Given the description of an element on the screen output the (x, y) to click on. 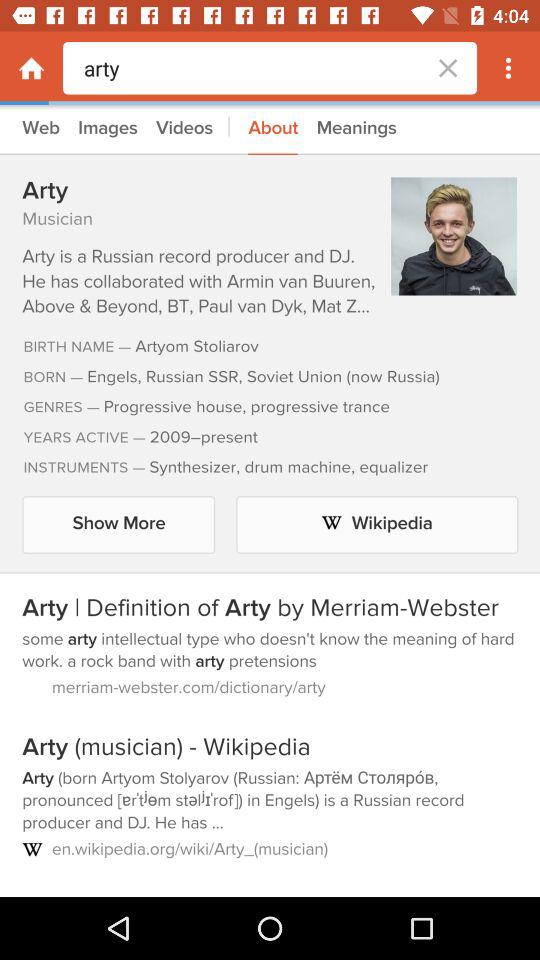
home page (31, 68)
